Given the description of an element on the screen output the (x, y) to click on. 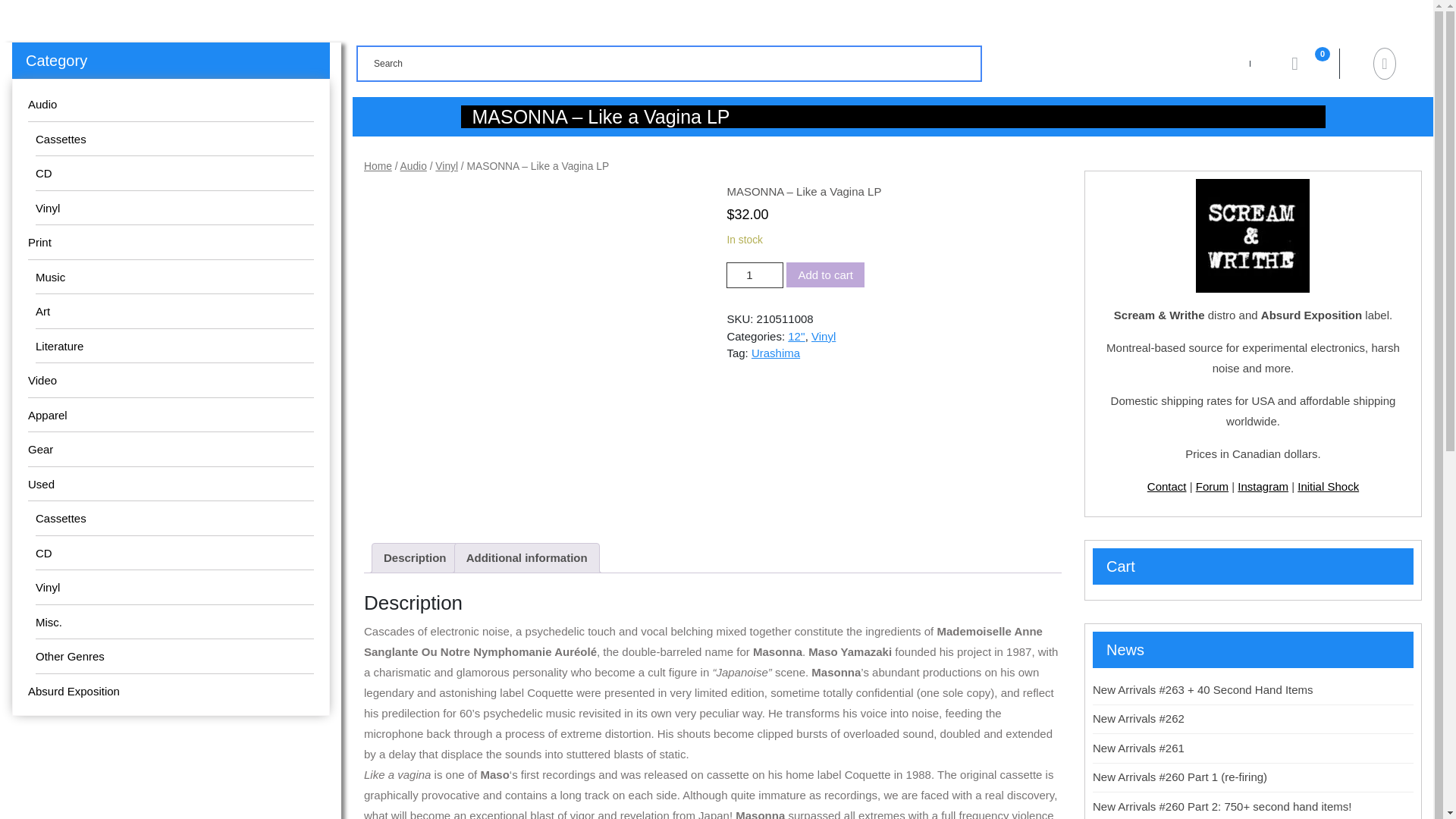
Cassettes (59, 517)
Vinyl (46, 207)
CD (43, 173)
Audio (41, 103)
1 (754, 275)
Gear (39, 449)
Apparel (46, 413)
Used (41, 483)
Vinyl (46, 586)
Art (41, 310)
